Given the description of an element on the screen output the (x, y) to click on. 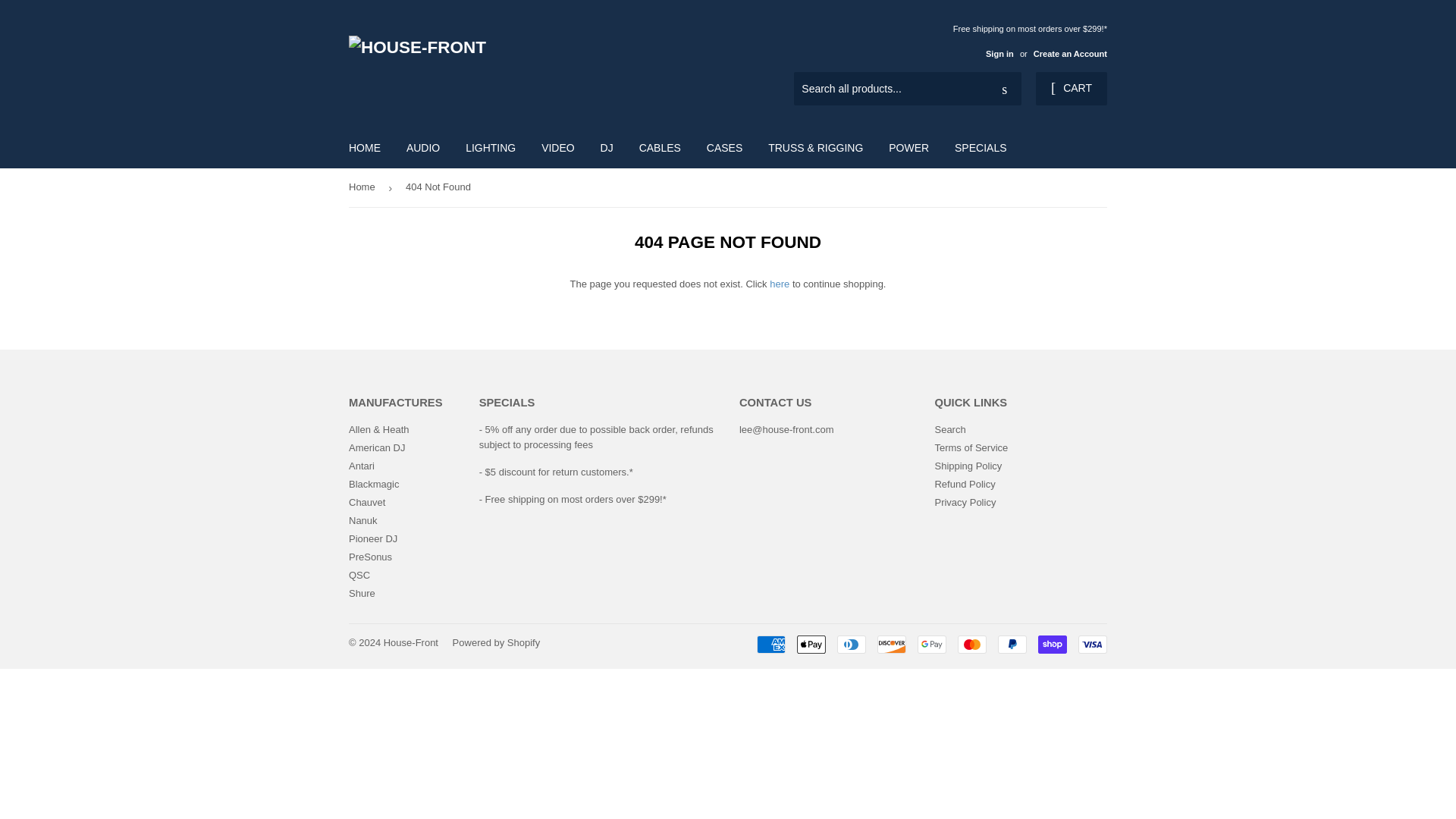
Mastercard (972, 644)
American Express (771, 644)
Apple Pay (810, 644)
HOME (364, 147)
Visa (1092, 644)
Chauvet (367, 501)
Antari (361, 465)
VIDEO (557, 147)
Search (1004, 89)
Create an Account (1069, 53)
Home (364, 187)
SPECIALS (980, 147)
Discover (891, 644)
LIGHTING (490, 147)
American DJ (376, 447)
